Given the description of an element on the screen output the (x, y) to click on. 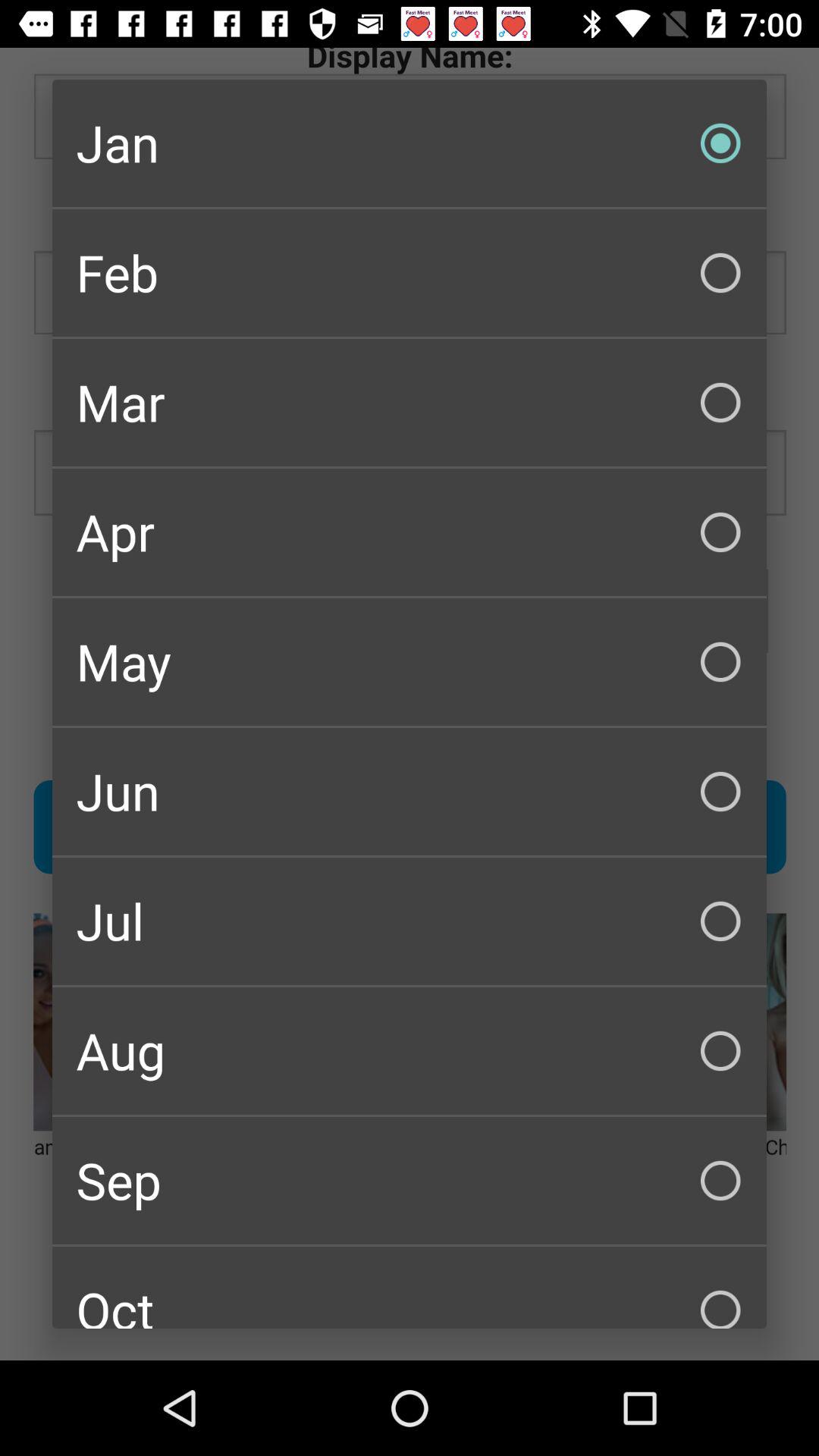
turn on item above the jul (409, 791)
